Given the description of an element on the screen output the (x, y) to click on. 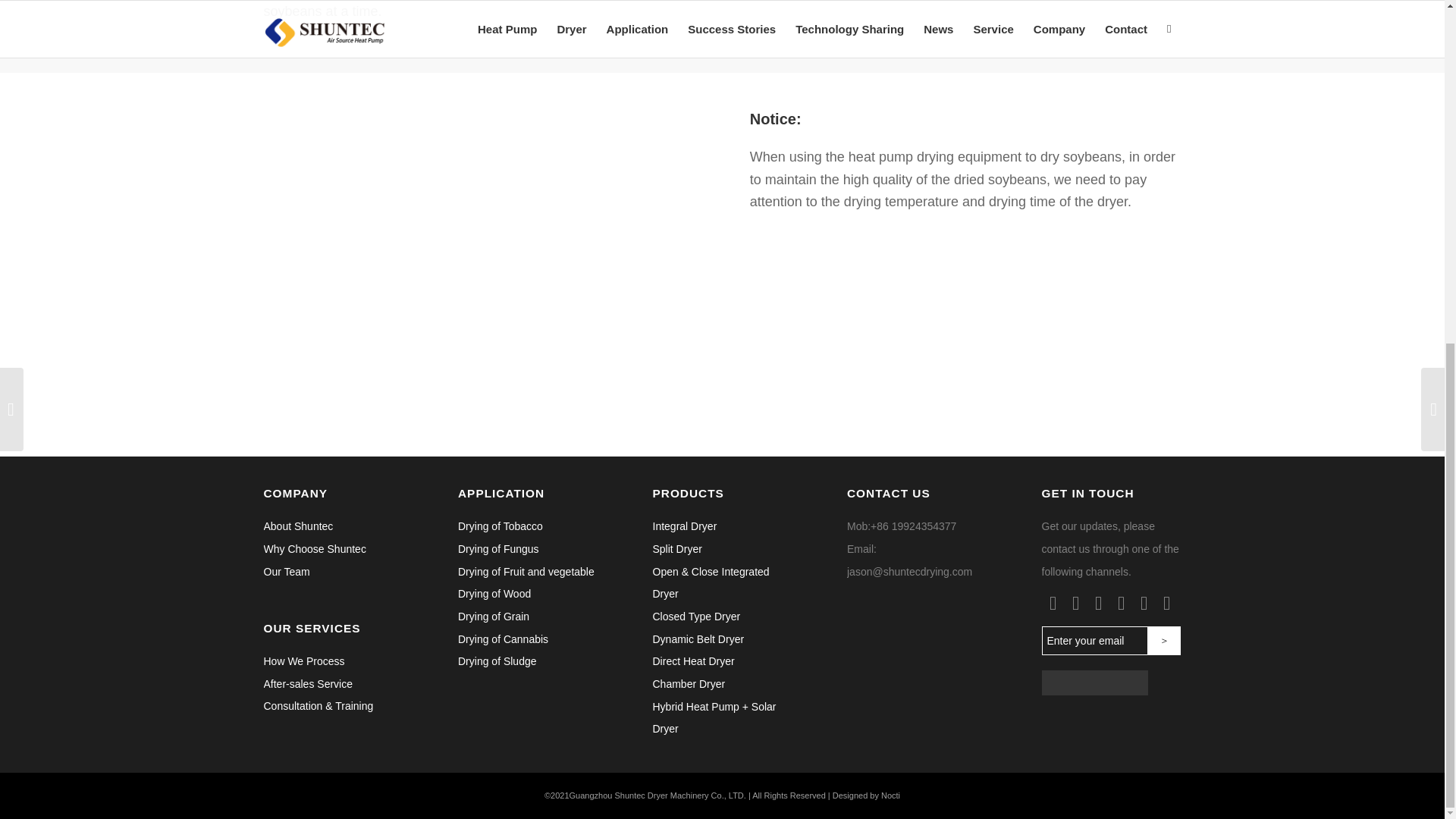
Linkedin (1098, 603)
Twitter (1075, 603)
Youtube (1166, 603)
Facebook (1053, 603)
drying-soybeans-by-heat-pump-dryer (479, 264)
Skype (1144, 603)
Pinterest (1120, 603)
